Given the description of an element on the screen output the (x, y) to click on. 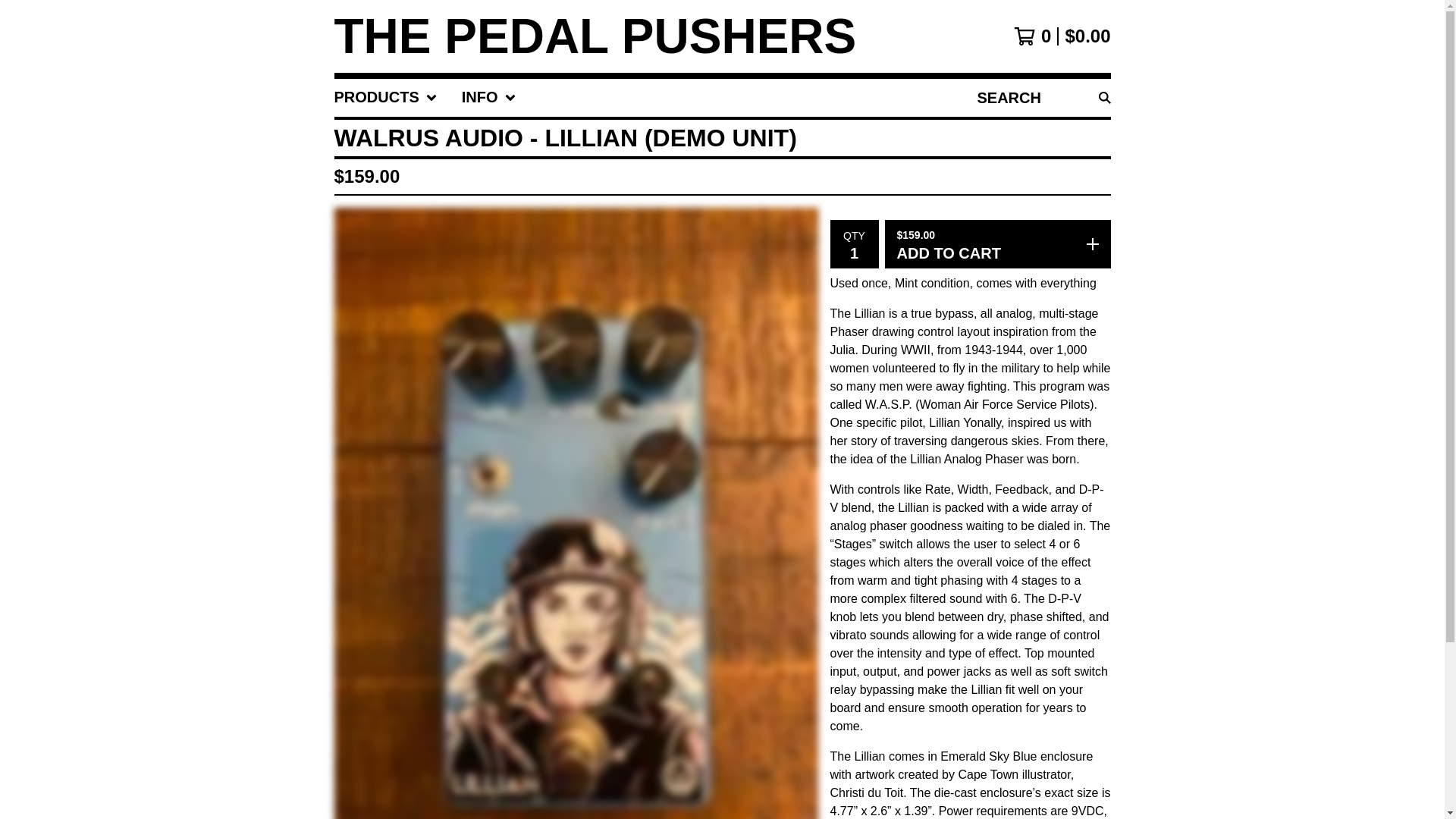
1 (853, 252)
THE PEDAL PUSHERS (594, 36)
PRODUCTS (384, 97)
View cart (1061, 36)
Home (594, 36)
INFO (488, 97)
